Given the description of an element on the screen output the (x, y) to click on. 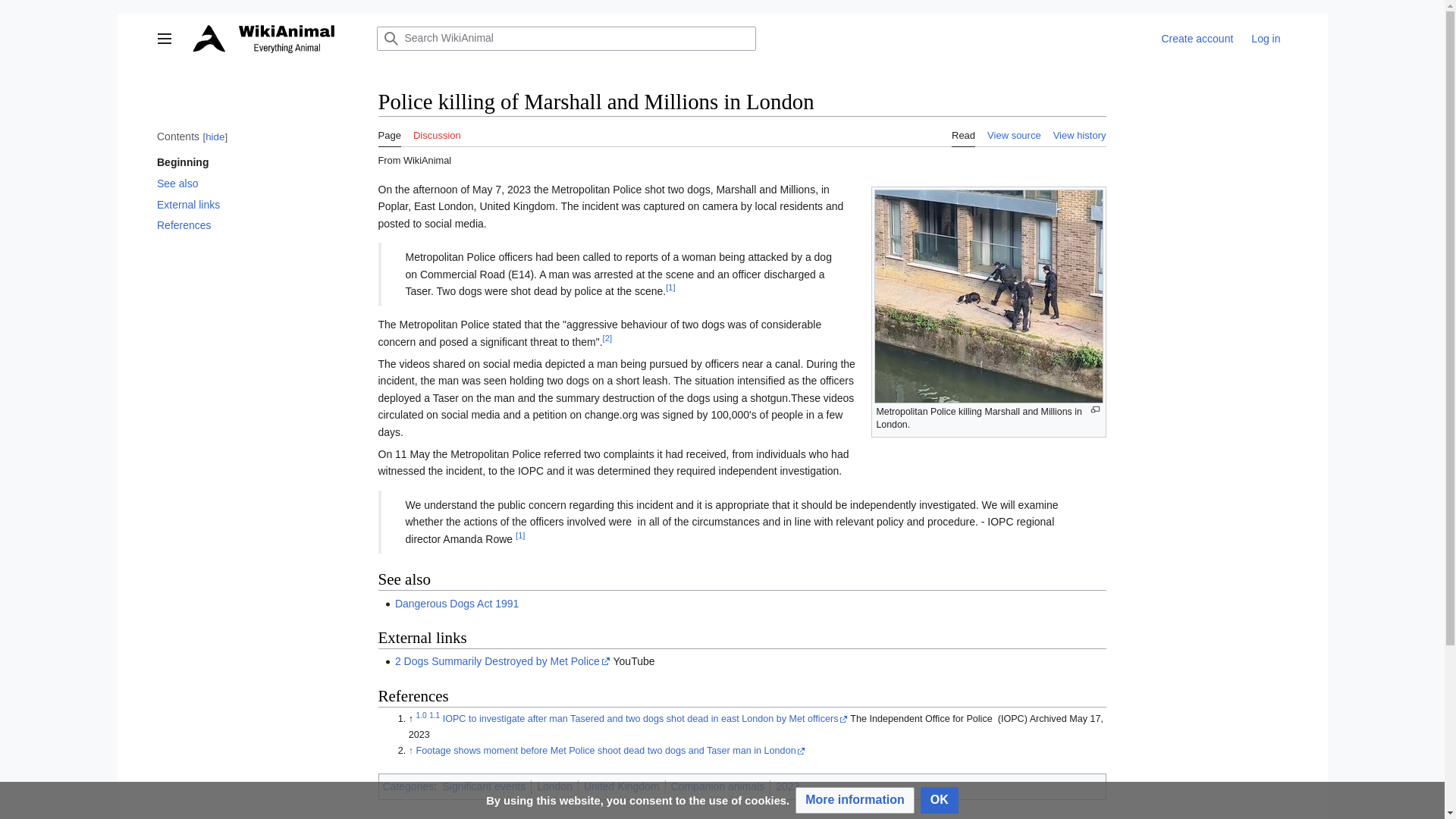
Create account (1196, 38)
Go (390, 38)
Search (390, 38)
Search (390, 38)
Search (390, 38)
Search the pages for this text (390, 38)
Go (390, 38)
Main menu (163, 38)
Log in (1264, 38)
